Given the description of an element on the screen output the (x, y) to click on. 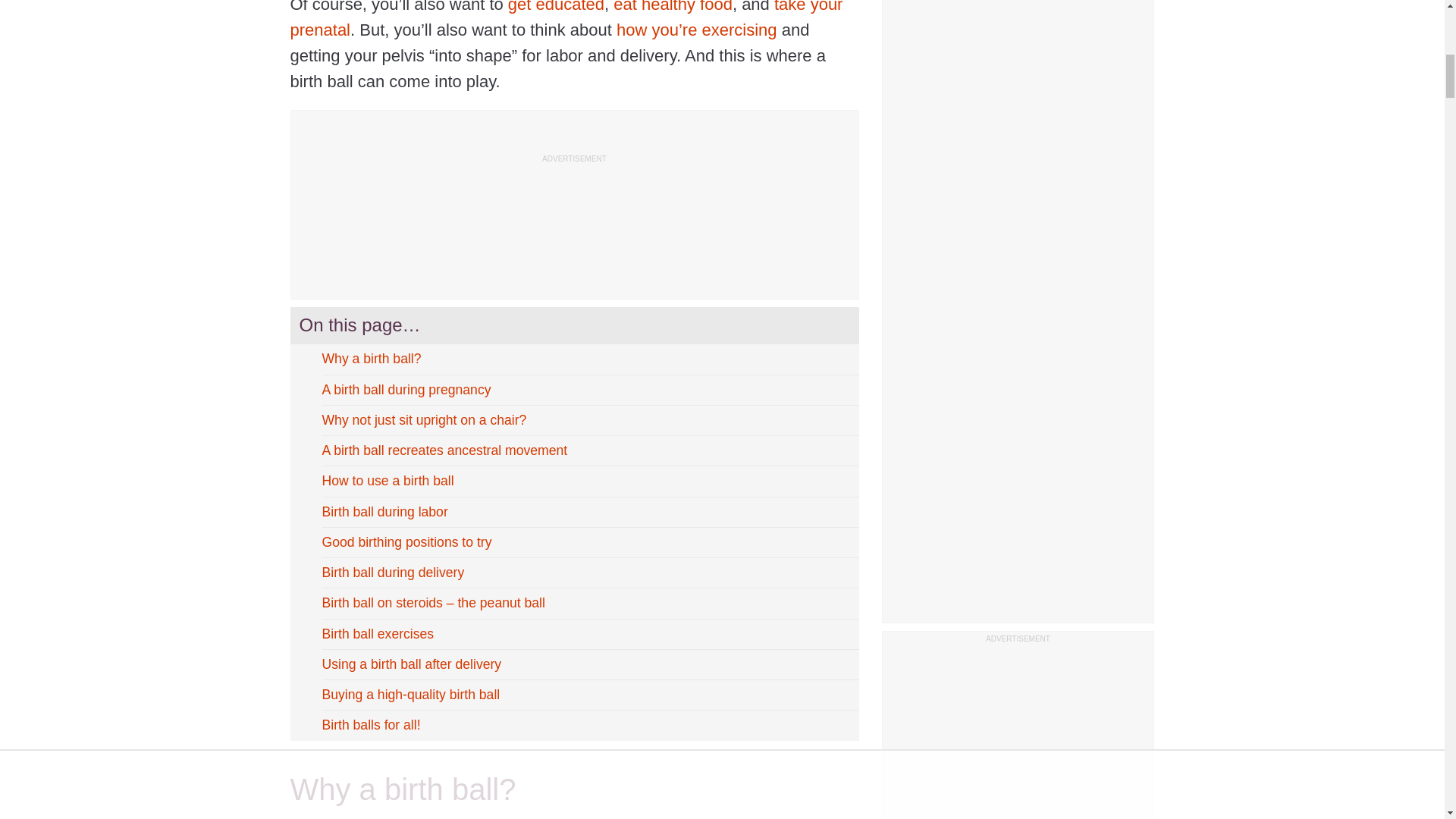
Birth ball during delivery (584, 572)
How to use a birth ball (584, 480)
Birth ball exercises (584, 634)
Birth ball during labor (584, 512)
Using a birth ball after delivery (584, 664)
Birth balls for all! (584, 724)
Why a birth ball? (584, 358)
Why not just sit upright on a chair? (584, 420)
A birth ball during pregnancy (584, 389)
A birth ball recreates ancestral movement (584, 450)
